Given the description of an element on the screen output the (x, y) to click on. 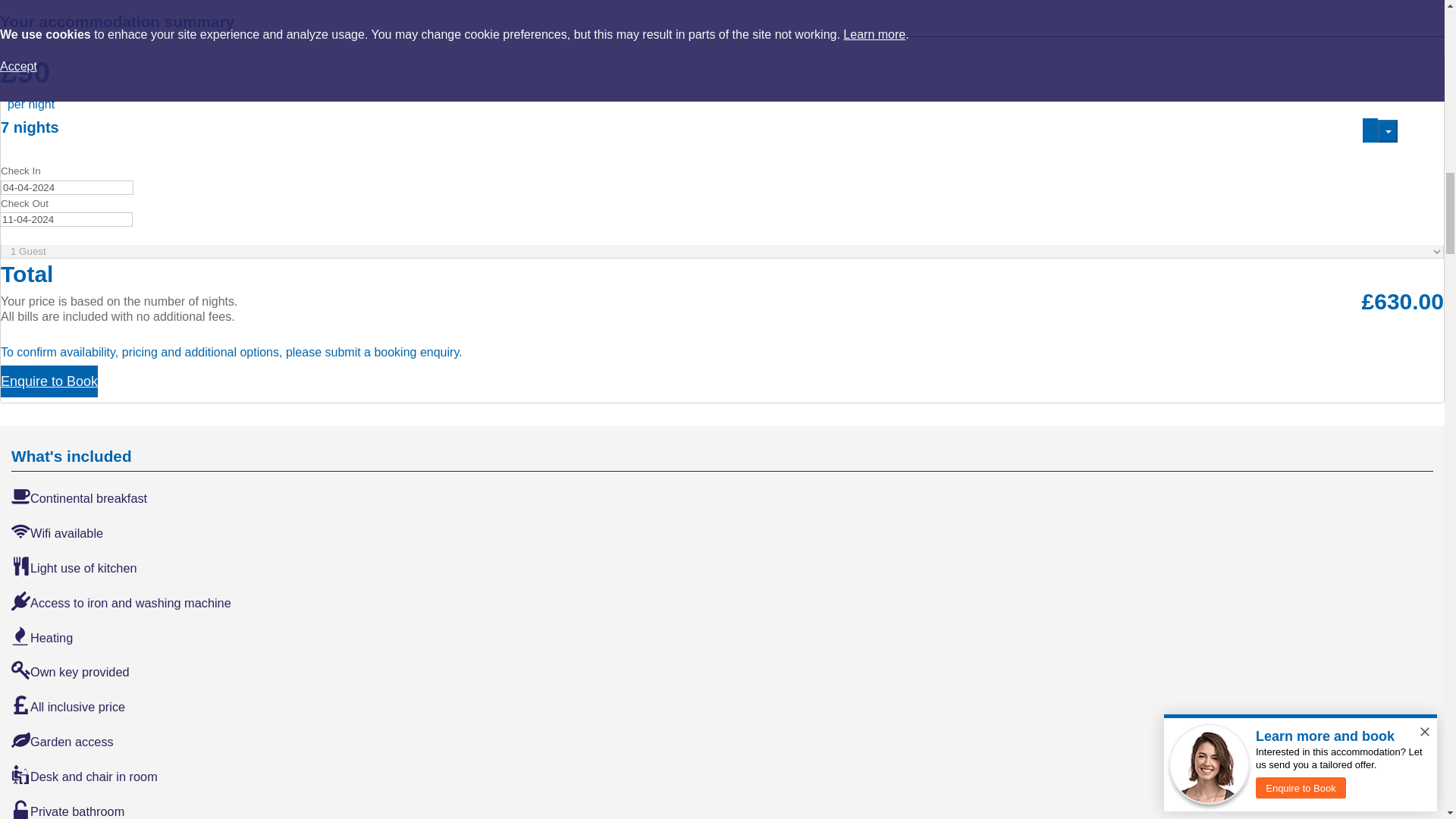
11-04-2024 (66, 219)
04-04-2024 (67, 187)
Enquire to Book (49, 381)
